Given the description of an element on the screen output the (x, y) to click on. 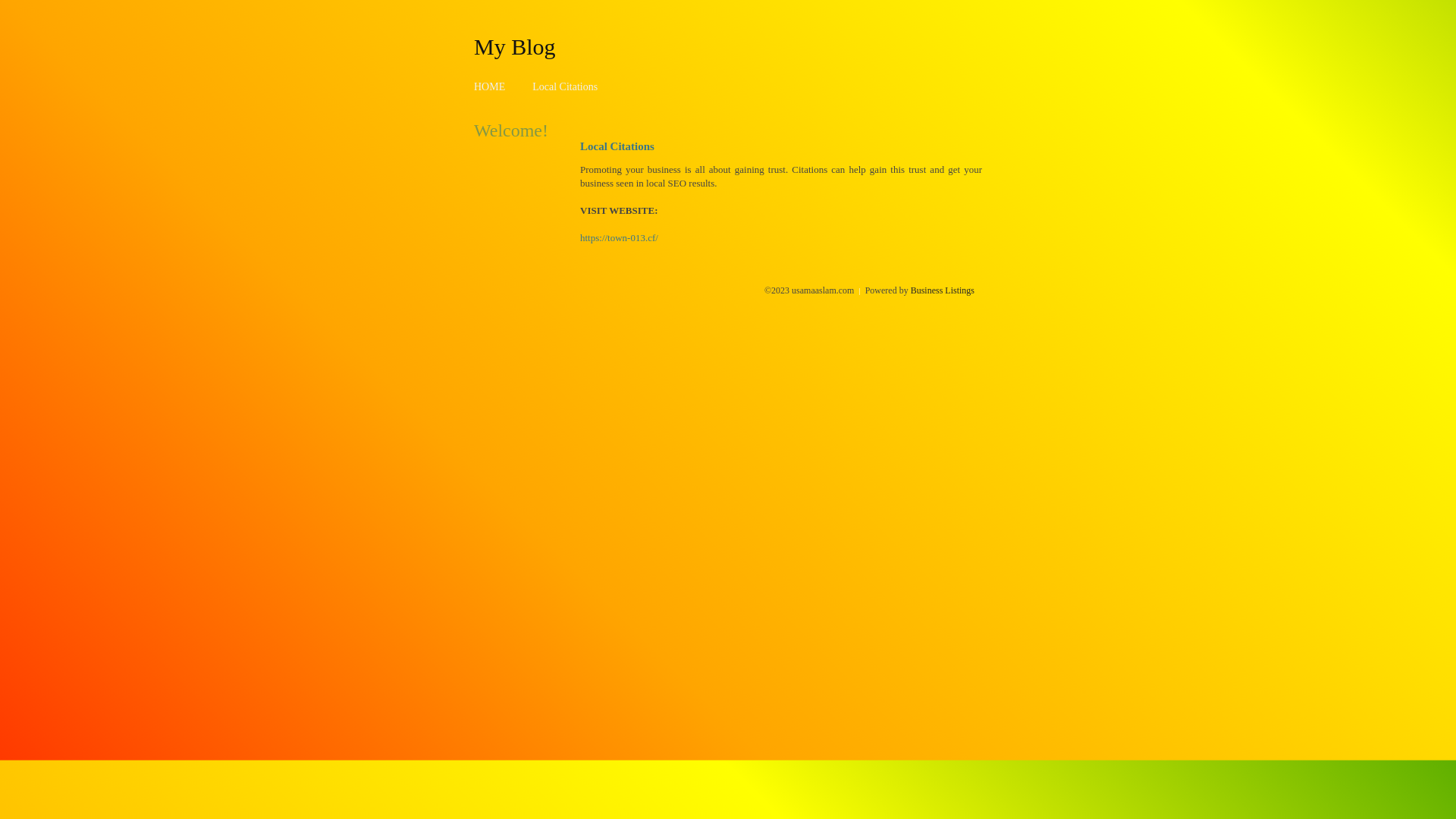
HOME Element type: text (489, 86)
Business Listings Element type: text (942, 290)
Local Citations Element type: text (564, 86)
https://town-013.cf/ Element type: text (619, 237)
My Blog Element type: text (514, 46)
